Given the description of an element on the screen output the (x, y) to click on. 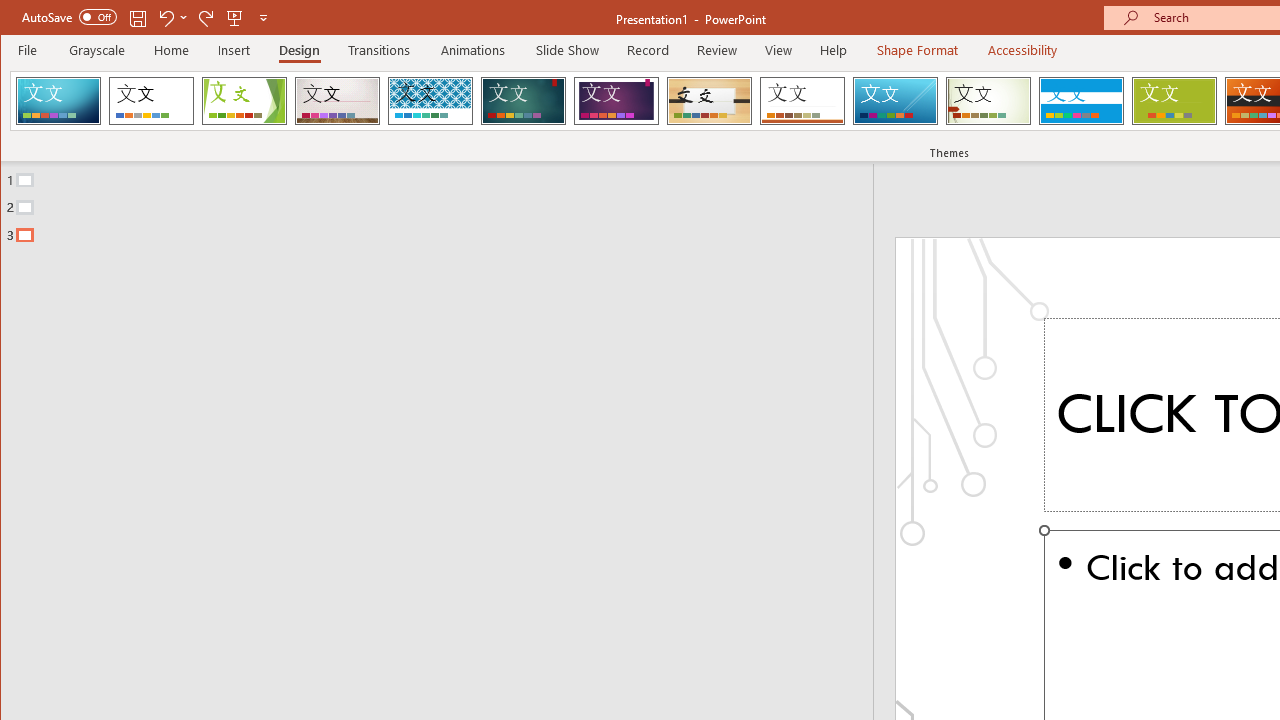
Ion Boardroom (616, 100)
Slice (895, 100)
Outline (445, 203)
Facet (244, 100)
Banded (1081, 100)
